Given the description of an element on the screen output the (x, y) to click on. 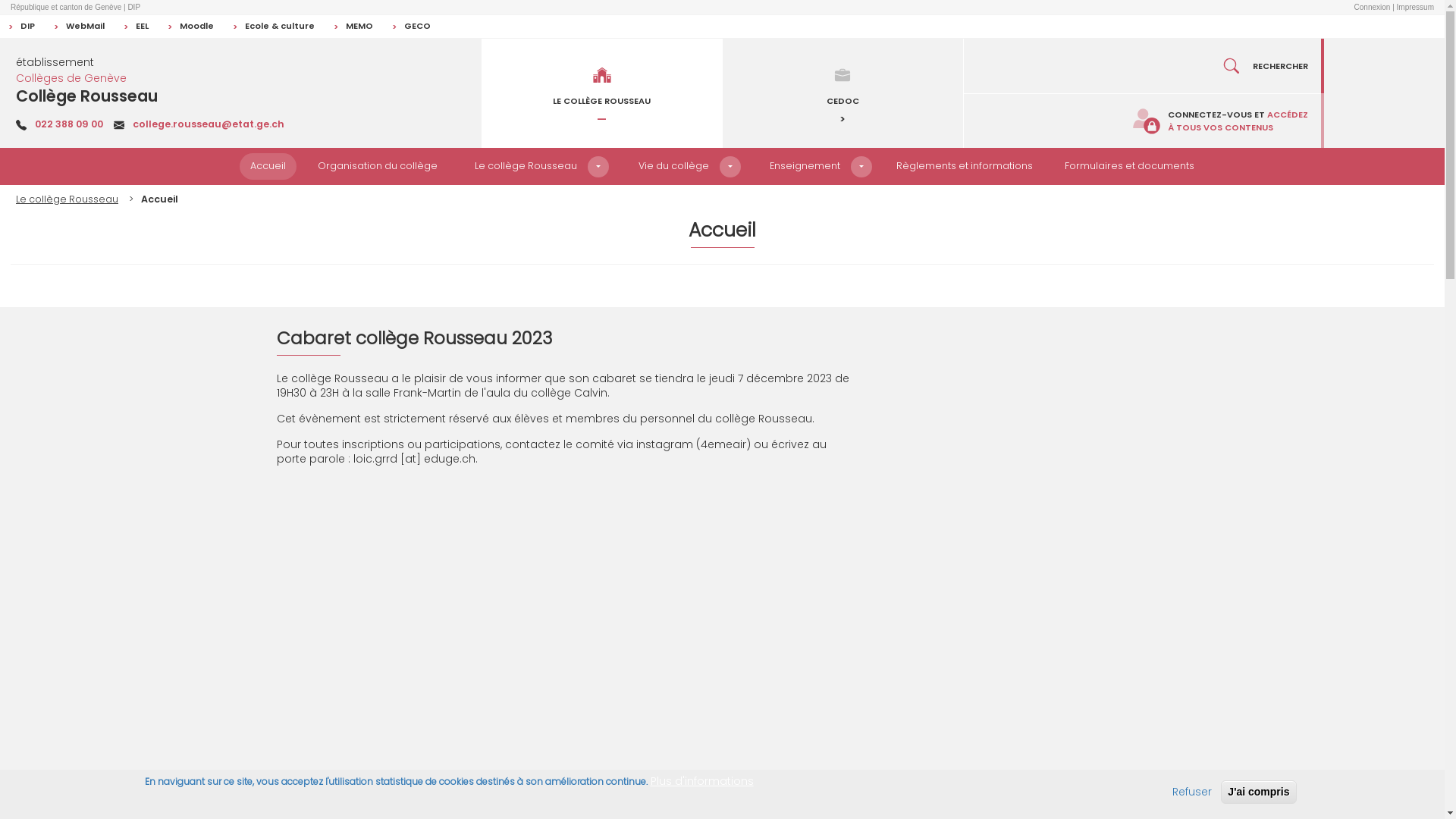
Aller au contenu principal Element type: text (0, 0)
MEMO Element type: text (352, 26)
GECO Element type: text (411, 26)
college.rousseau@etat.ge.ch Element type: text (208, 123)
J'ai compris Element type: text (1257, 791)
RECHERCHER Element type: text (1143, 65)
DIP Element type: text (21, 26)
Ecole & culture Element type: text (272, 26)
Accueil Element type: text (267, 166)
Refuser Element type: text (1191, 792)
Formulaires et documents Element type: text (1129, 166)
Impressum Element type: text (1415, 7)
Plus d'informations Element type: text (701, 781)
DIP Element type: text (133, 7)
Enseignement Element type: text (804, 166)
EEL Element type: text (135, 26)
Moodle Element type: text (190, 26)
022 388 09 00 Element type: text (68, 123)
Connexion Element type: text (1372, 7)
WebMail Element type: text (78, 26)
